Given the description of an element on the screen output the (x, y) to click on. 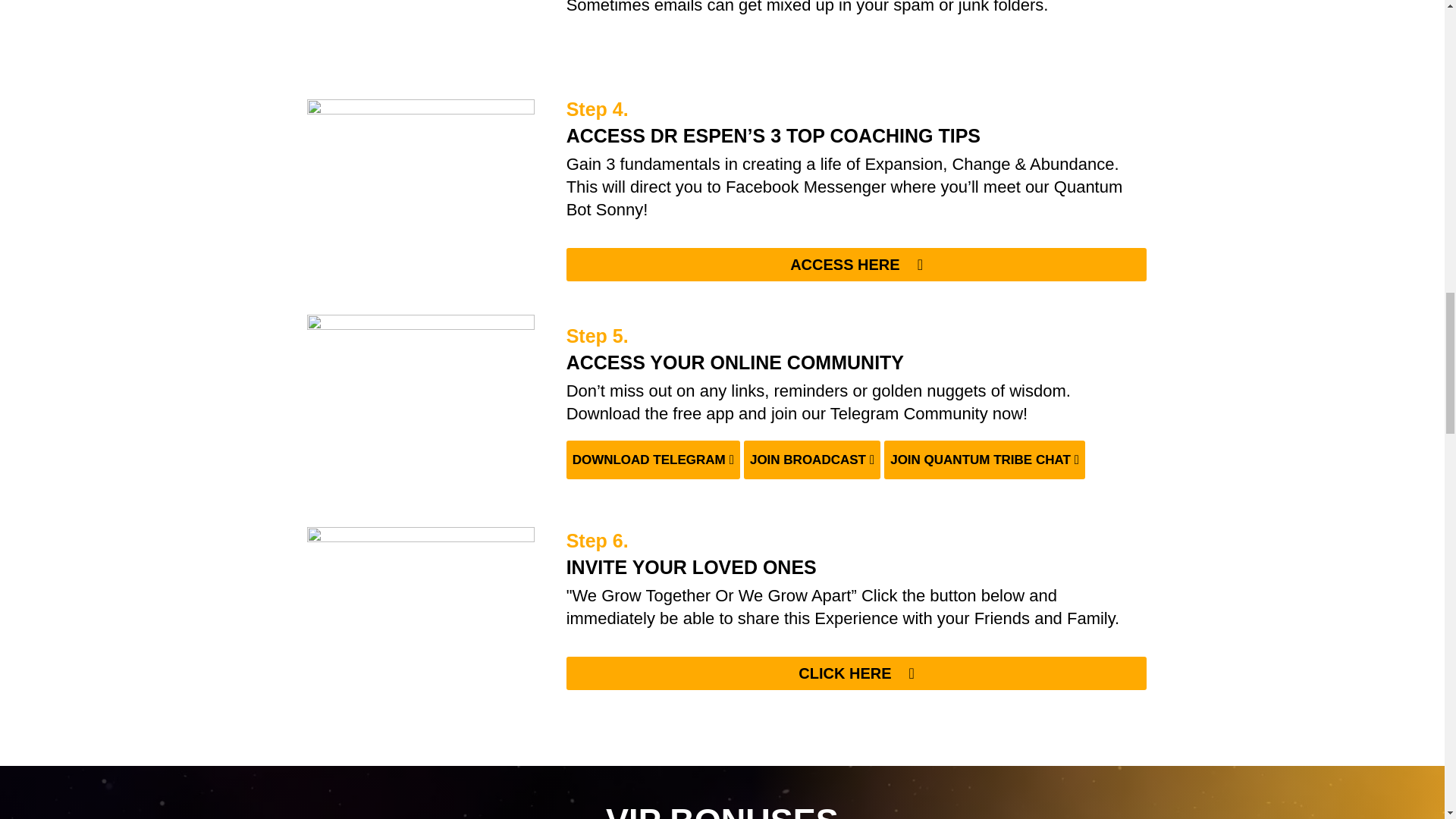
DOWNLOAD TELEGRAM (652, 459)
JOIN QUANTUM TRIBE CHAT (983, 459)
ACCESS HERE (856, 264)
JOIN BROADCAST (812, 459)
CLICK HERE (856, 673)
